Given the description of an element on the screen output the (x, y) to click on. 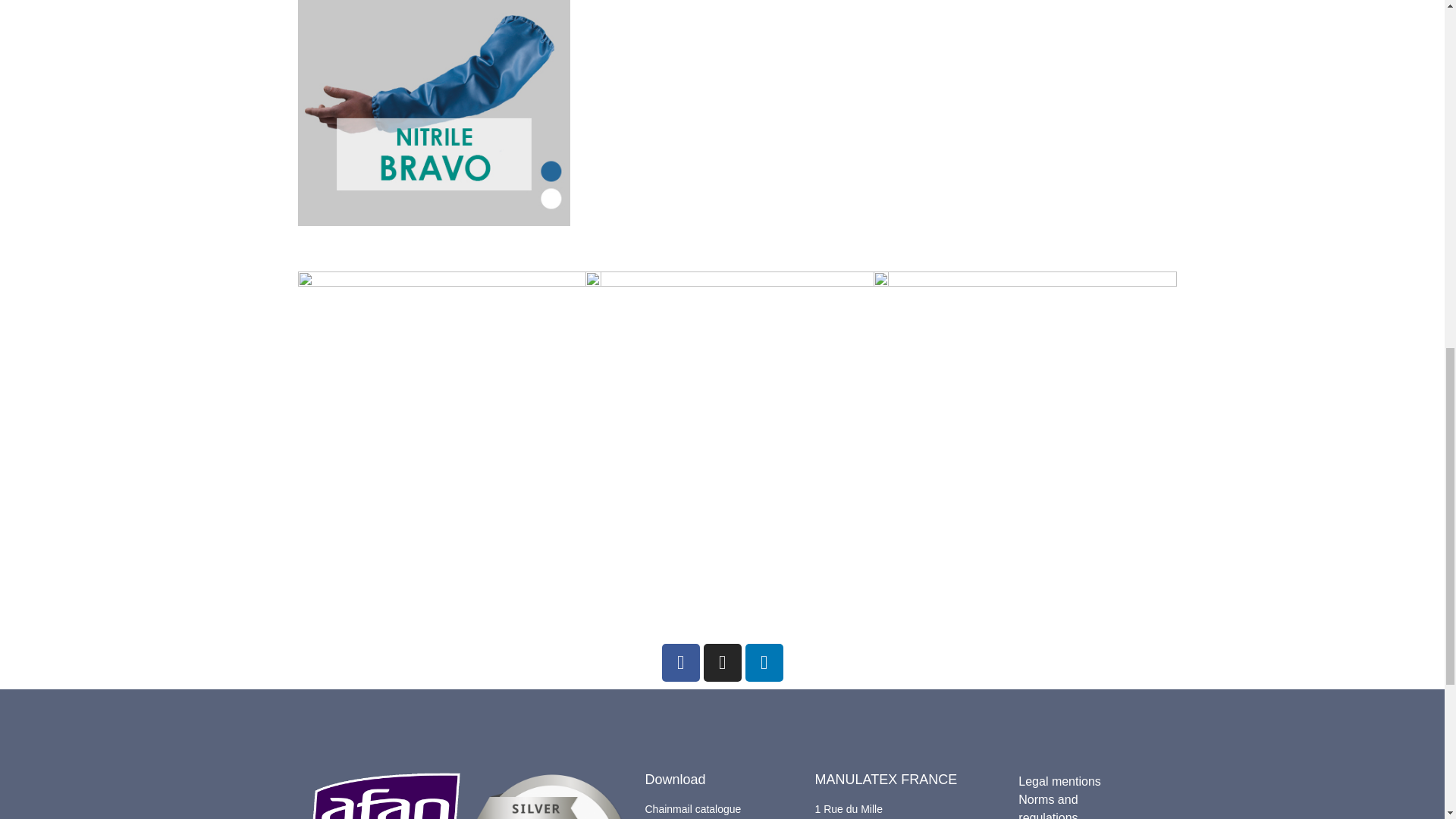
Chainmail catalogue (722, 809)
Norms and regulations (1077, 805)
Legal mentions (1077, 782)
